Given the description of an element on the screen output the (x, y) to click on. 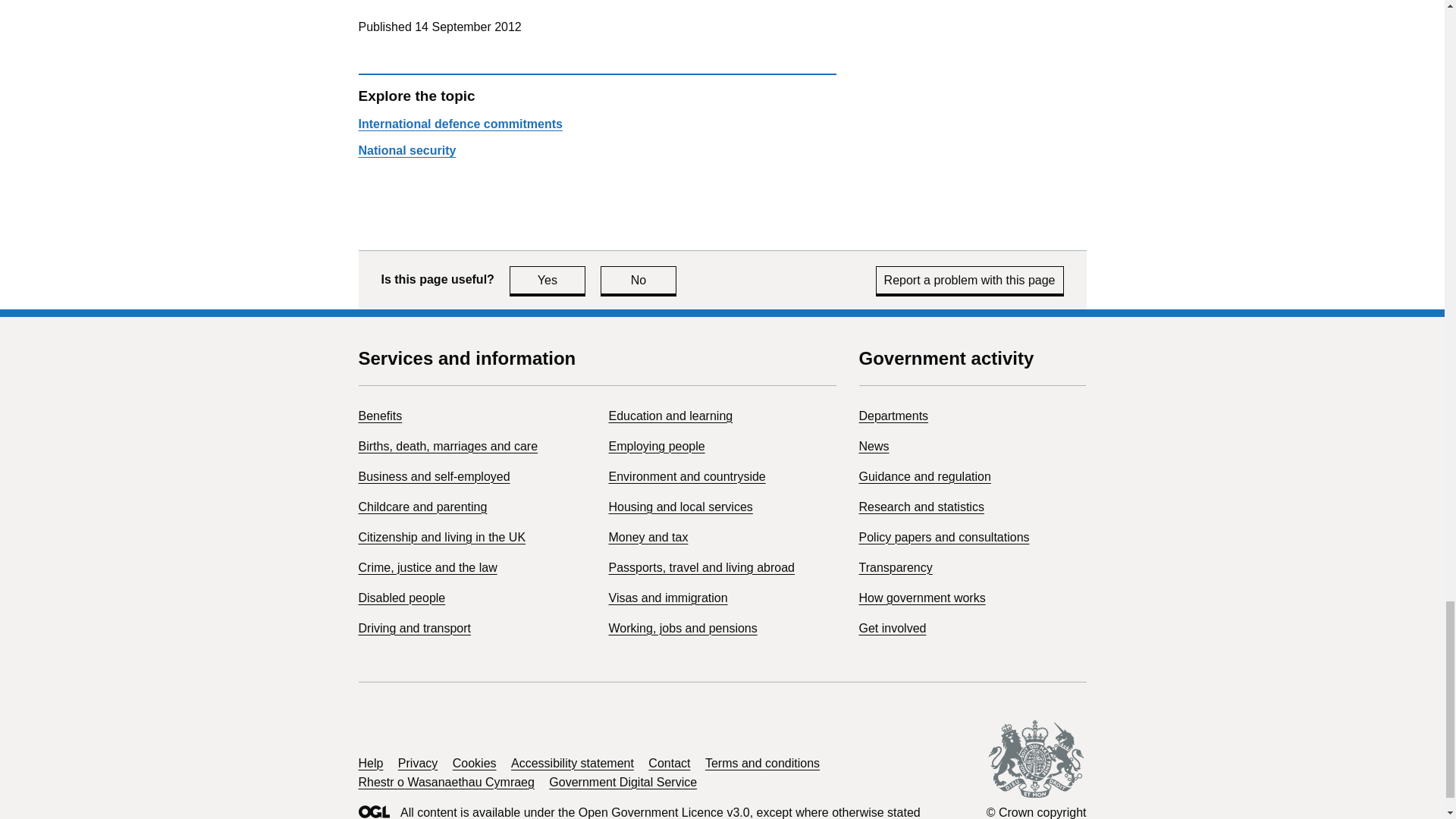
Benefits (379, 415)
Working, jobs and pensions (682, 627)
Employing people (656, 445)
Housing and local services (680, 506)
Crime, justice and the law (427, 567)
Policy papers and consultations (944, 536)
Childcare and parenting (422, 506)
Births, death, marriages and care (447, 445)
Visas and immigration (667, 597)
National security (406, 150)
Research and statistics (638, 280)
Departments (547, 280)
Environment and countryside (921, 506)
